Given the description of an element on the screen output the (x, y) to click on. 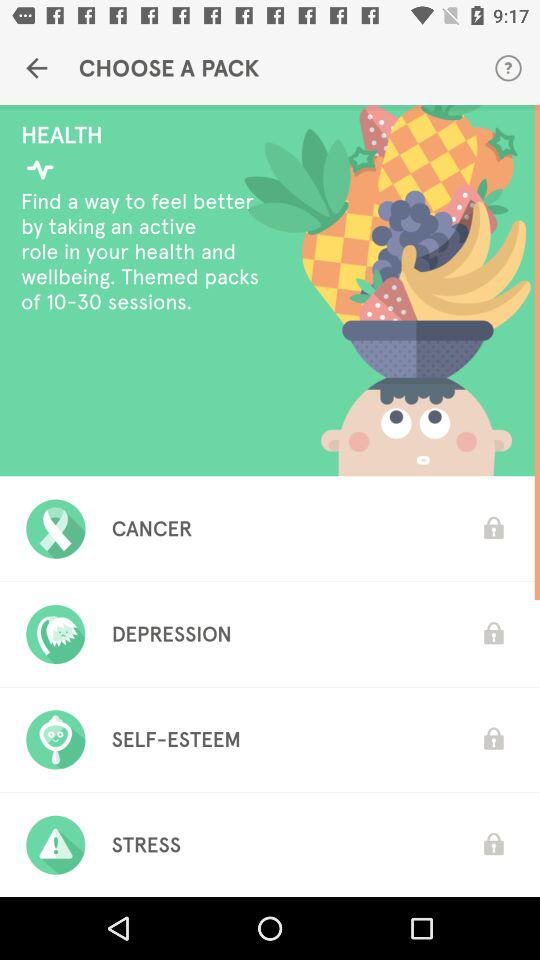
scroll until the stress icon (146, 845)
